Given the description of an element on the screen output the (x, y) to click on. 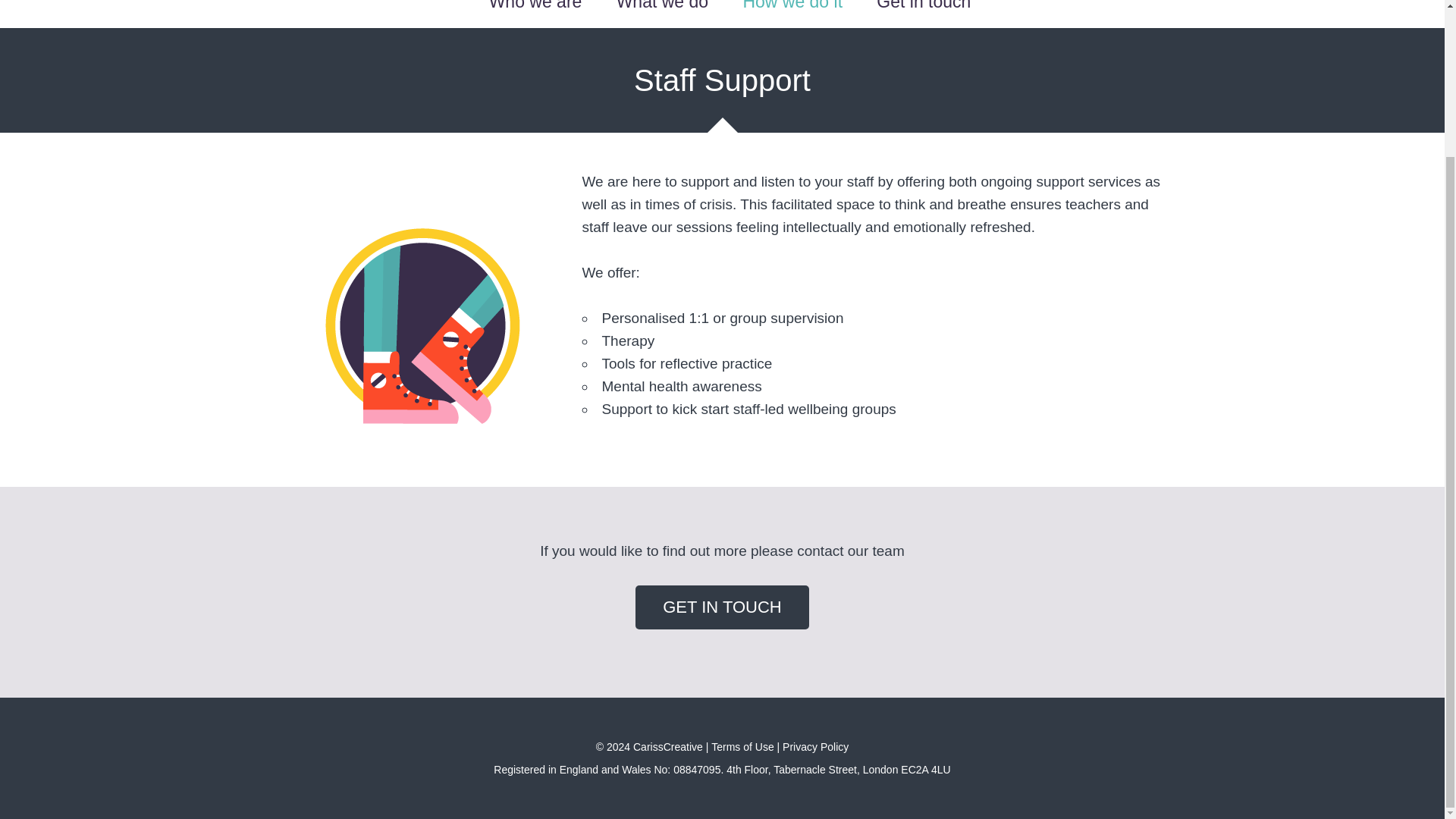
What we do (661, 13)
Terms of Use (742, 746)
Privacy Policy (815, 746)
Who we are (535, 13)
Get in touch (923, 13)
GET IN TOUCH (721, 607)
How we do it (792, 13)
